Given the description of an element on the screen output the (x, y) to click on. 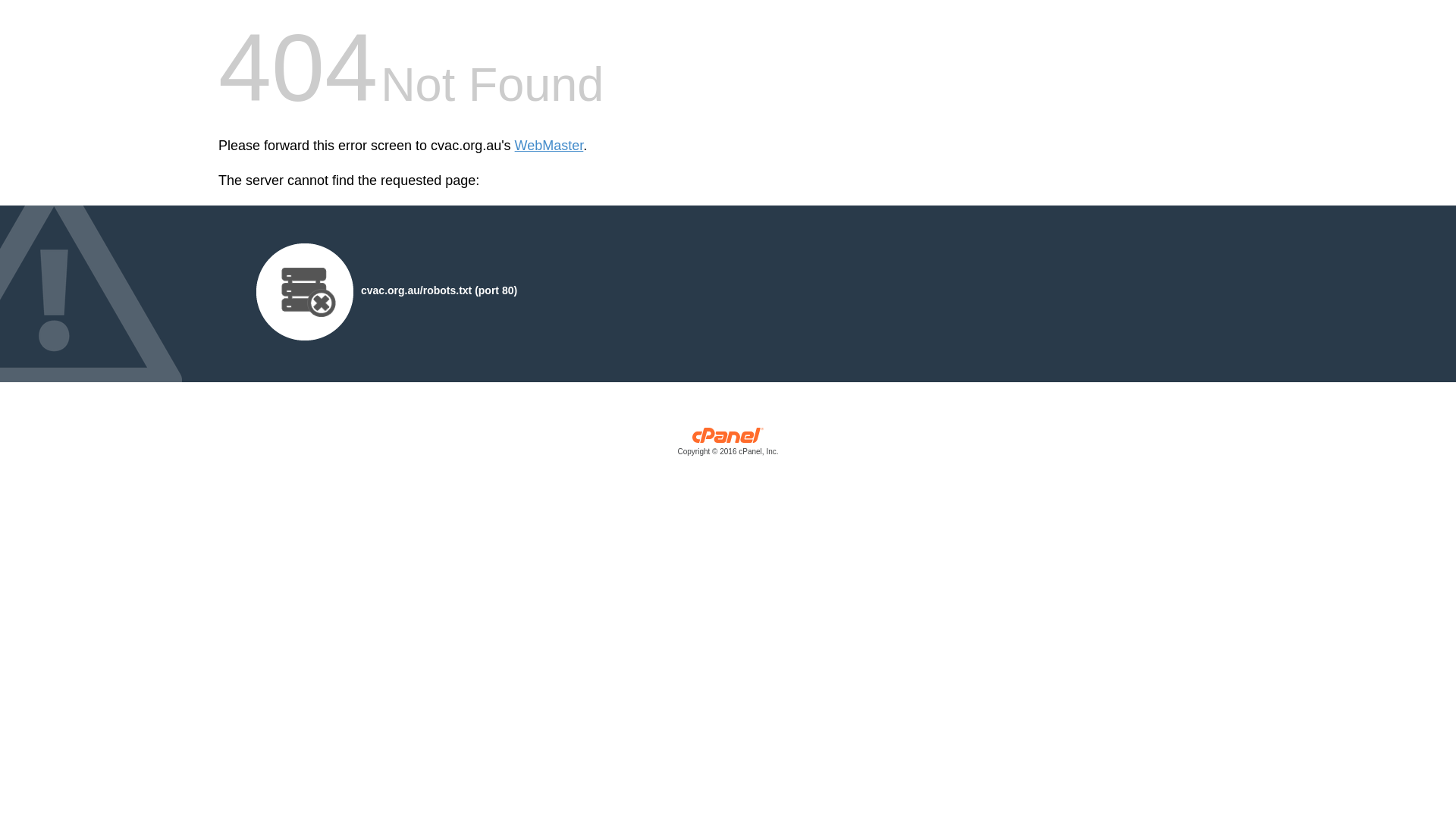
WebMaster Element type: text (548, 145)
